Given the description of an element on the screen output the (x, y) to click on. 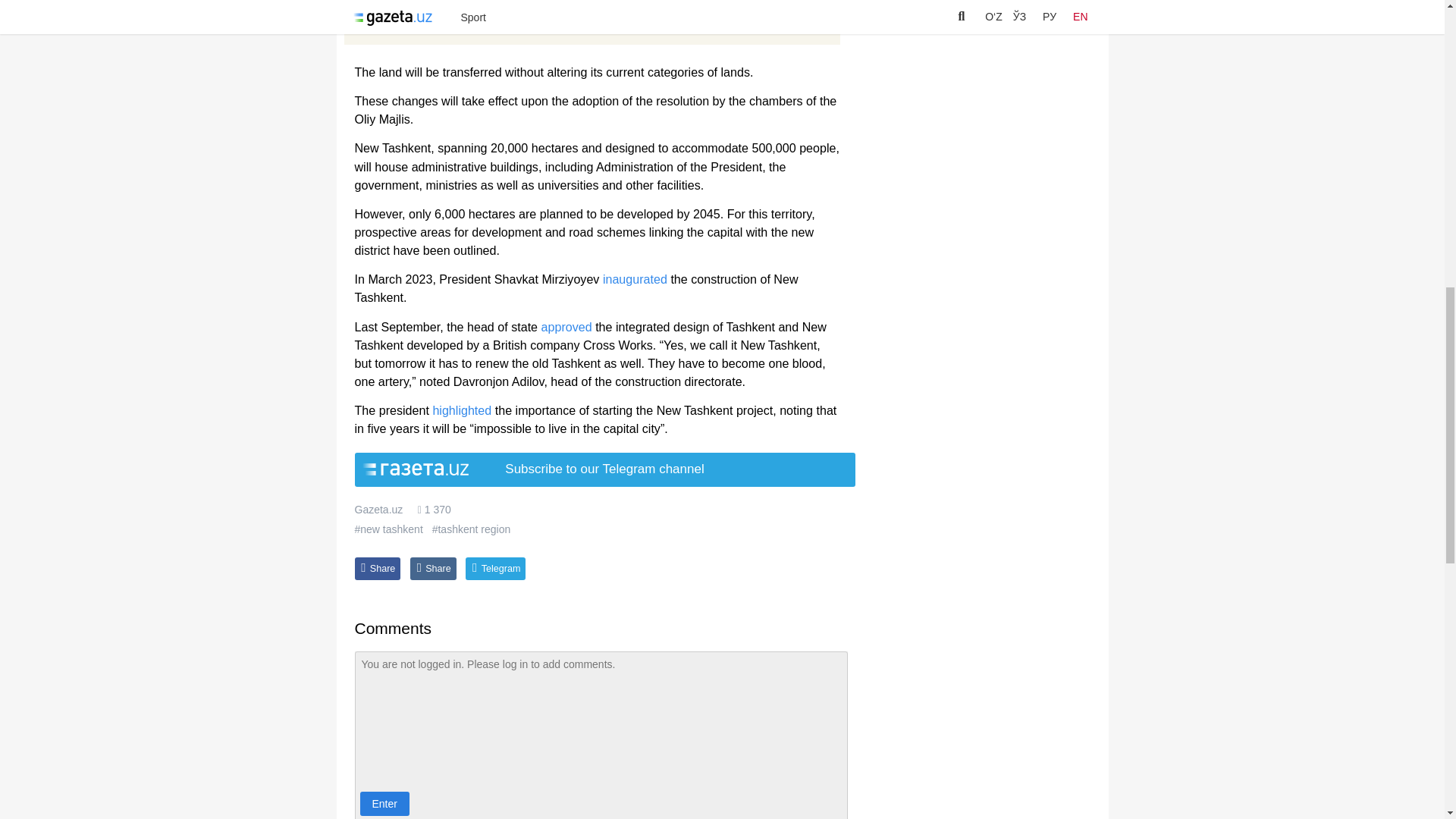
Share (433, 568)
Share (378, 568)
Telegram (495, 568)
inaugurated (634, 278)
approved (566, 326)
highlighted (462, 409)
Subscribe to our Telegram channel (605, 469)
Enter (384, 803)
